Given the description of an element on the screen output the (x, y) to click on. 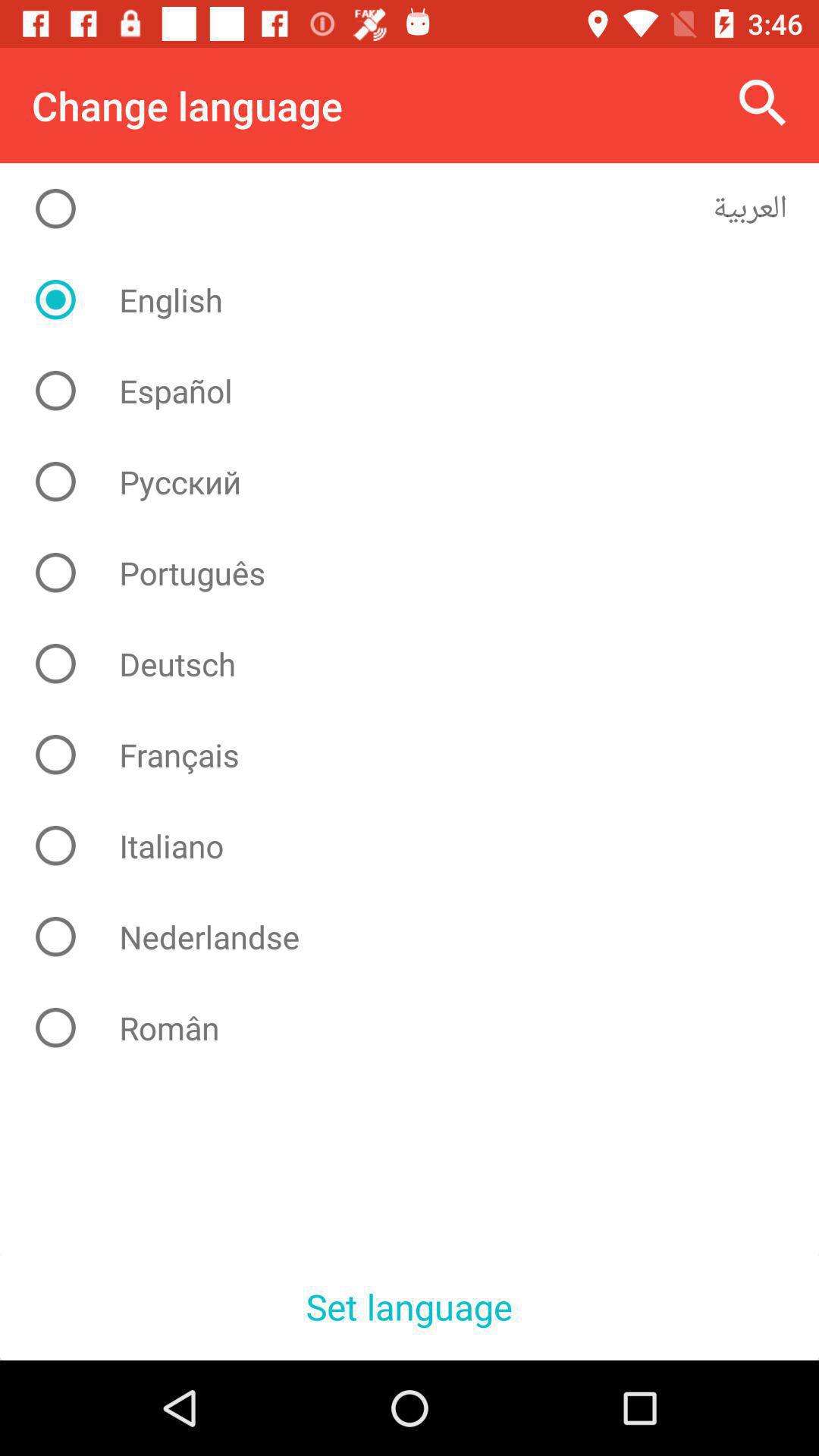
tap icon above set language (421, 1027)
